Given the description of an element on the screen output the (x, y) to click on. 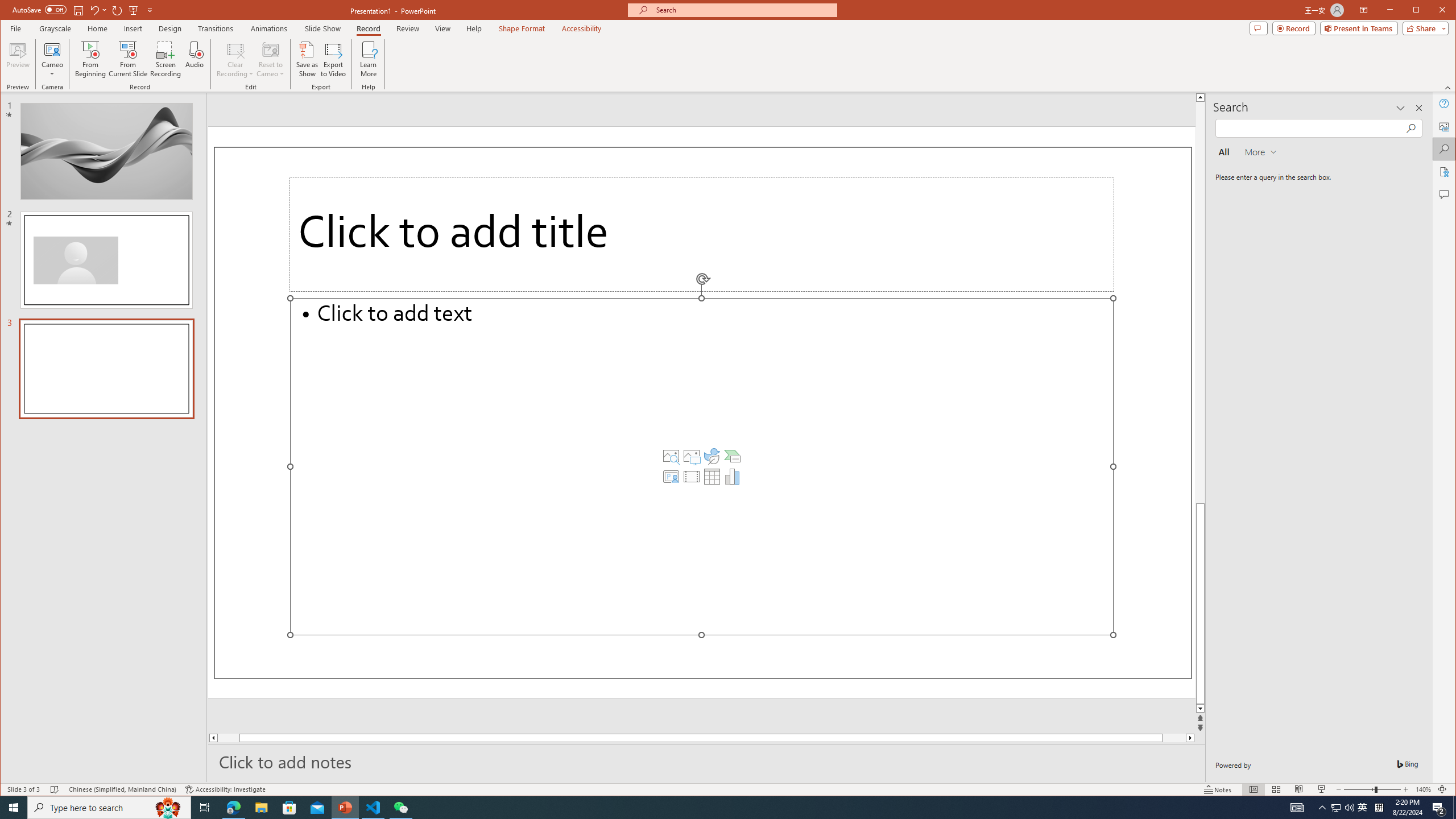
Insert Video (691, 476)
Comments (1258, 28)
Search (1444, 148)
Zoom Out (1358, 789)
Screen Recording (165, 59)
Page up (1200, 302)
Zoom to Fit  (1441, 789)
Zoom In (1405, 789)
Show desktop (1454, 807)
Insert Table (711, 476)
AutoSave (38, 9)
Insert Cameo (670, 476)
Zoom (1371, 789)
Review (407, 28)
